Given the description of an element on the screen output the (x, y) to click on. 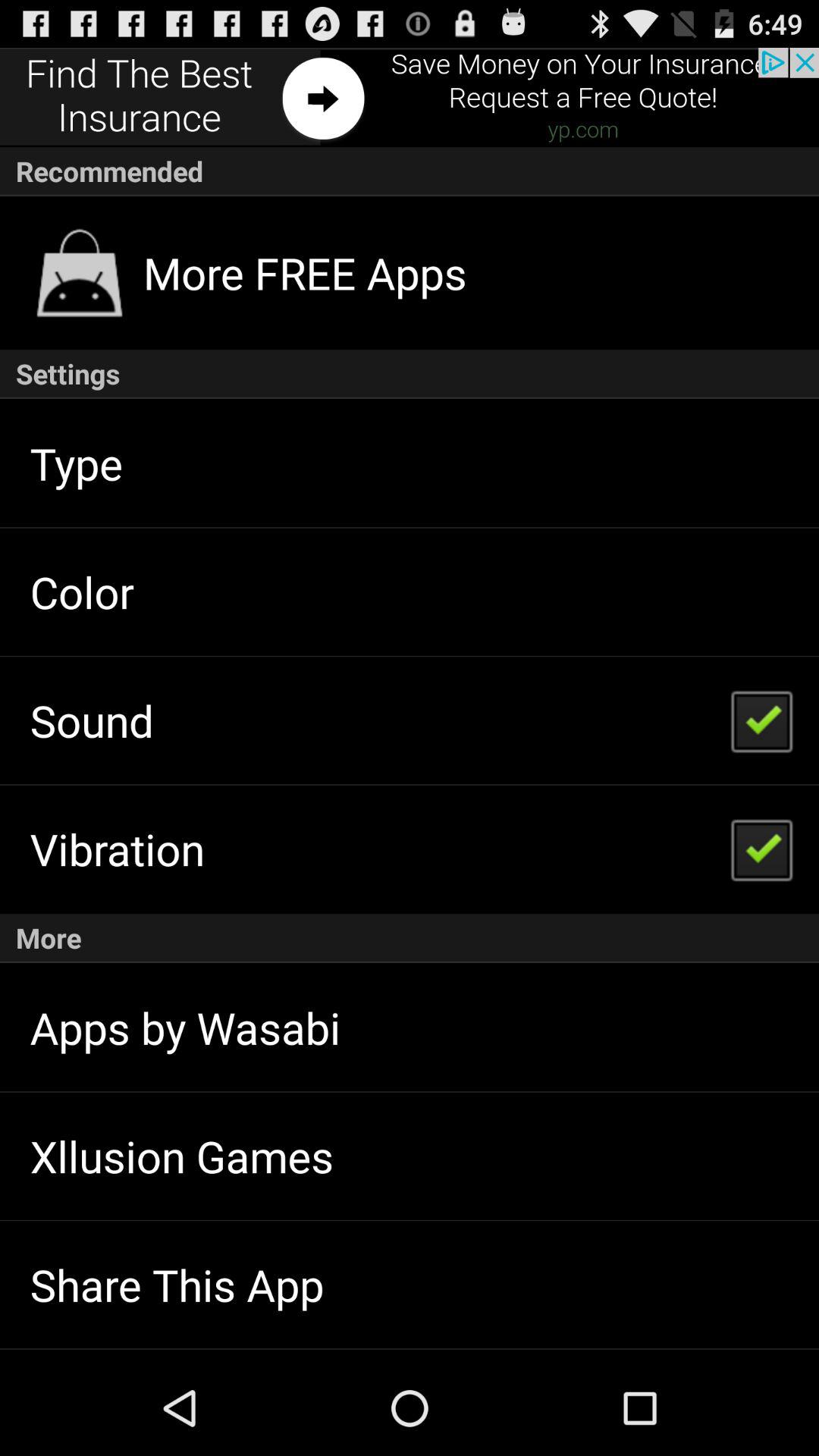
advertisement portion (409, 97)
